Given the description of an element on the screen output the (x, y) to click on. 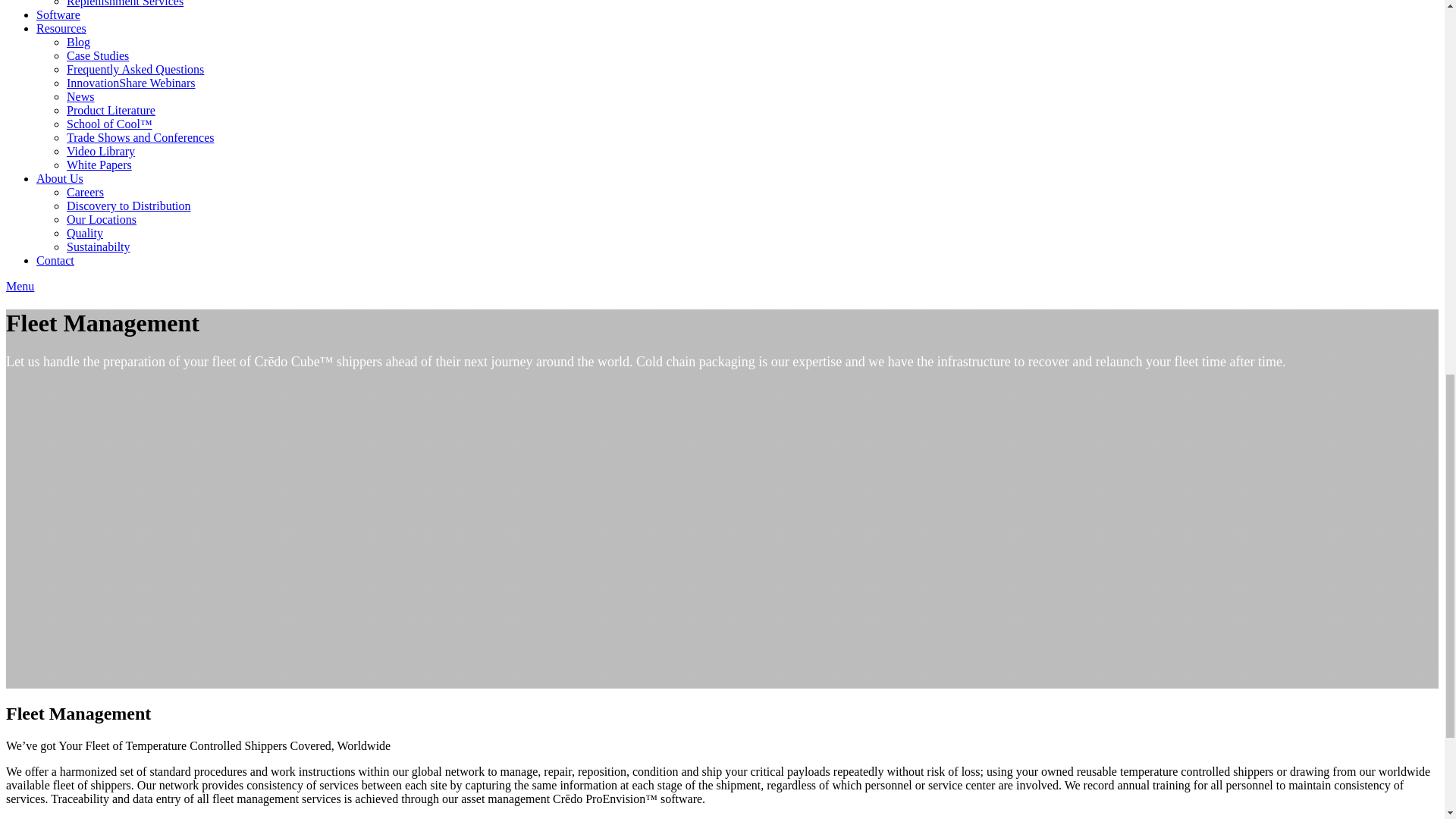
Menu (19, 286)
